Given the description of an element on the screen output the (x, y) to click on. 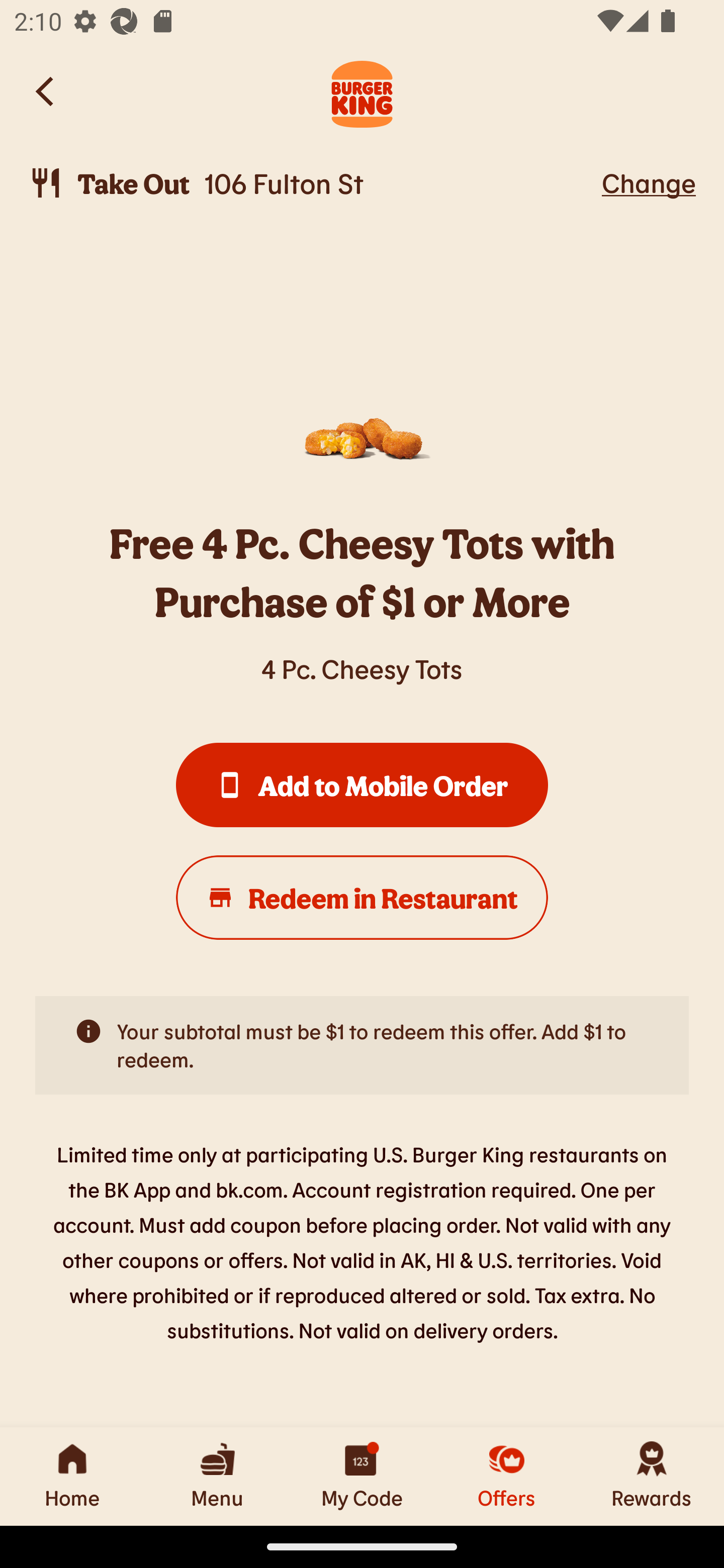
Burger King Logo. Navigate to Home (362, 91)
Back (45, 91)
Take Out, 106 Fulton St  Take Out 106 Fulton St (311, 183)
Change (648, 182)
Add to Mobile Order (361, 785)
Redeem in Restaurant  Redeem in Restaurant (361, 897)
Home (72, 1475)
Menu (216, 1475)
My Code (361, 1475)
Offers (506, 1475)
Rewards (651, 1475)
